Given the description of an element on the screen output the (x, y) to click on. 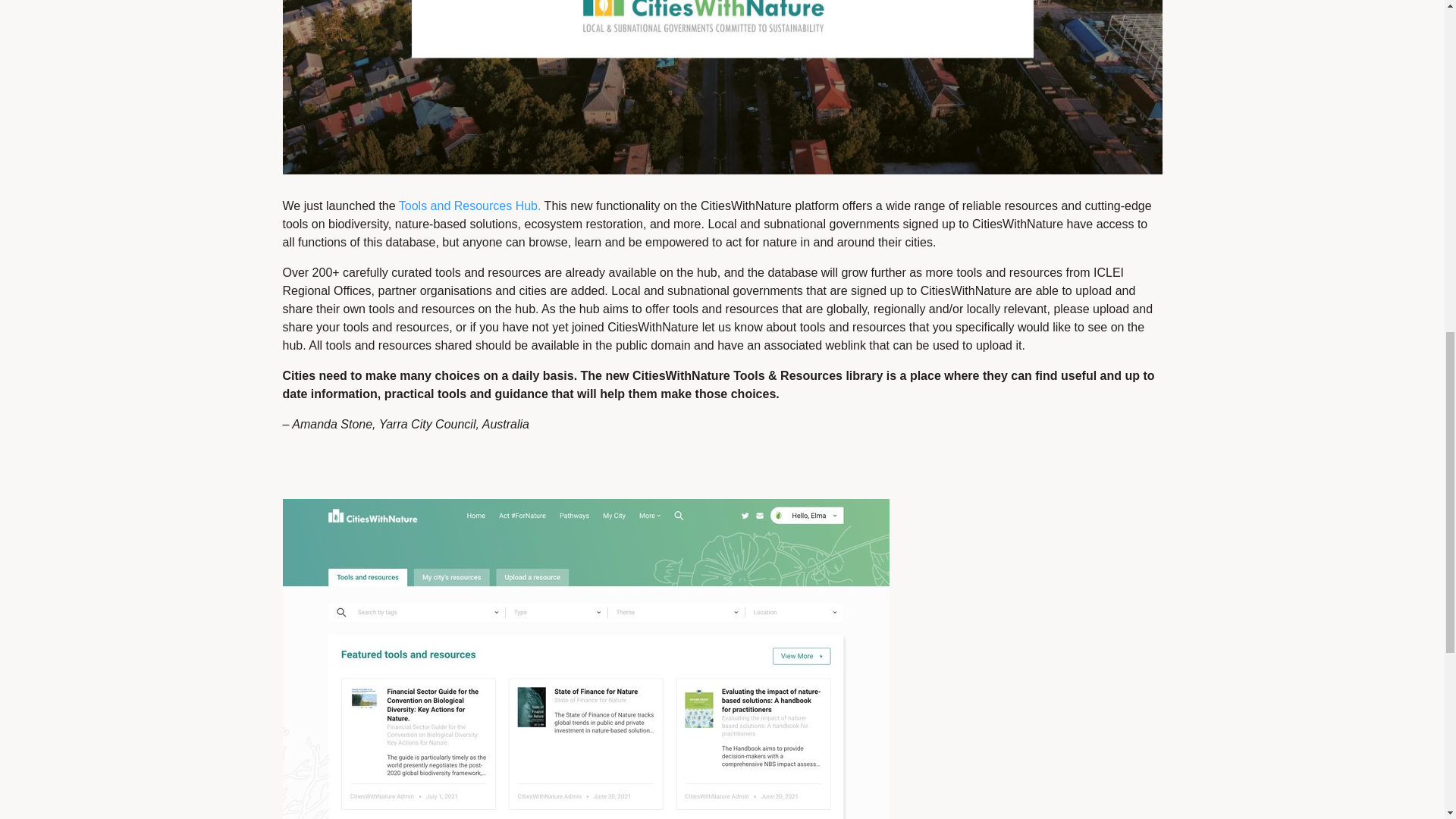
Tools and Resources Hub. (469, 205)
